Given the description of an element on the screen output the (x, y) to click on. 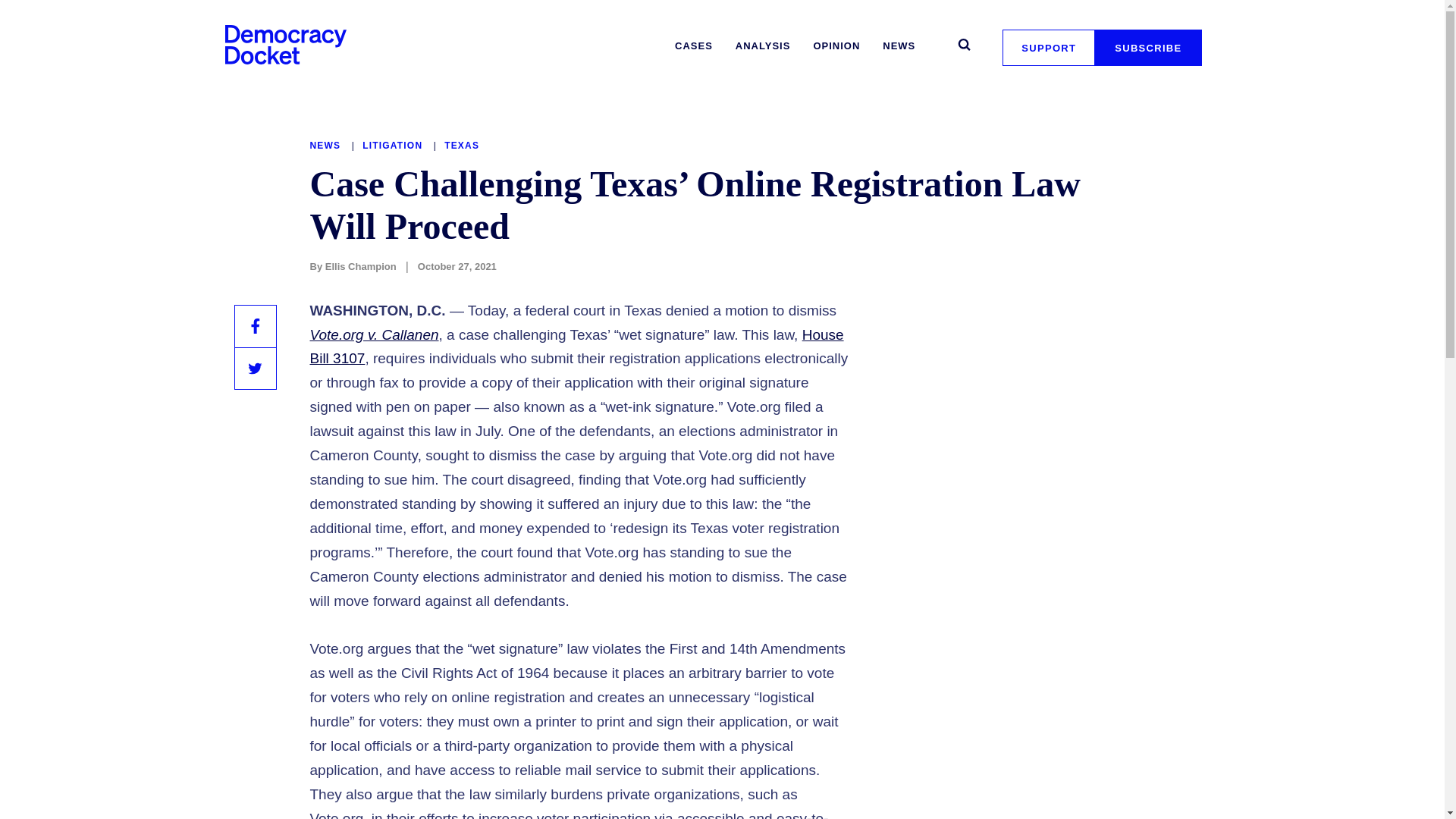
TEXAS (461, 145)
CASES (693, 46)
Vote.org v. Callanen (373, 334)
ANALYSIS (762, 46)
Ellis Champion (360, 266)
SUBSCRIBE (1147, 47)
Share on Twitter (254, 368)
SUPPORT (1048, 47)
Democracy Docket (285, 44)
LITIGATION (394, 145)
